Given the description of an element on the screen output the (x, y) to click on. 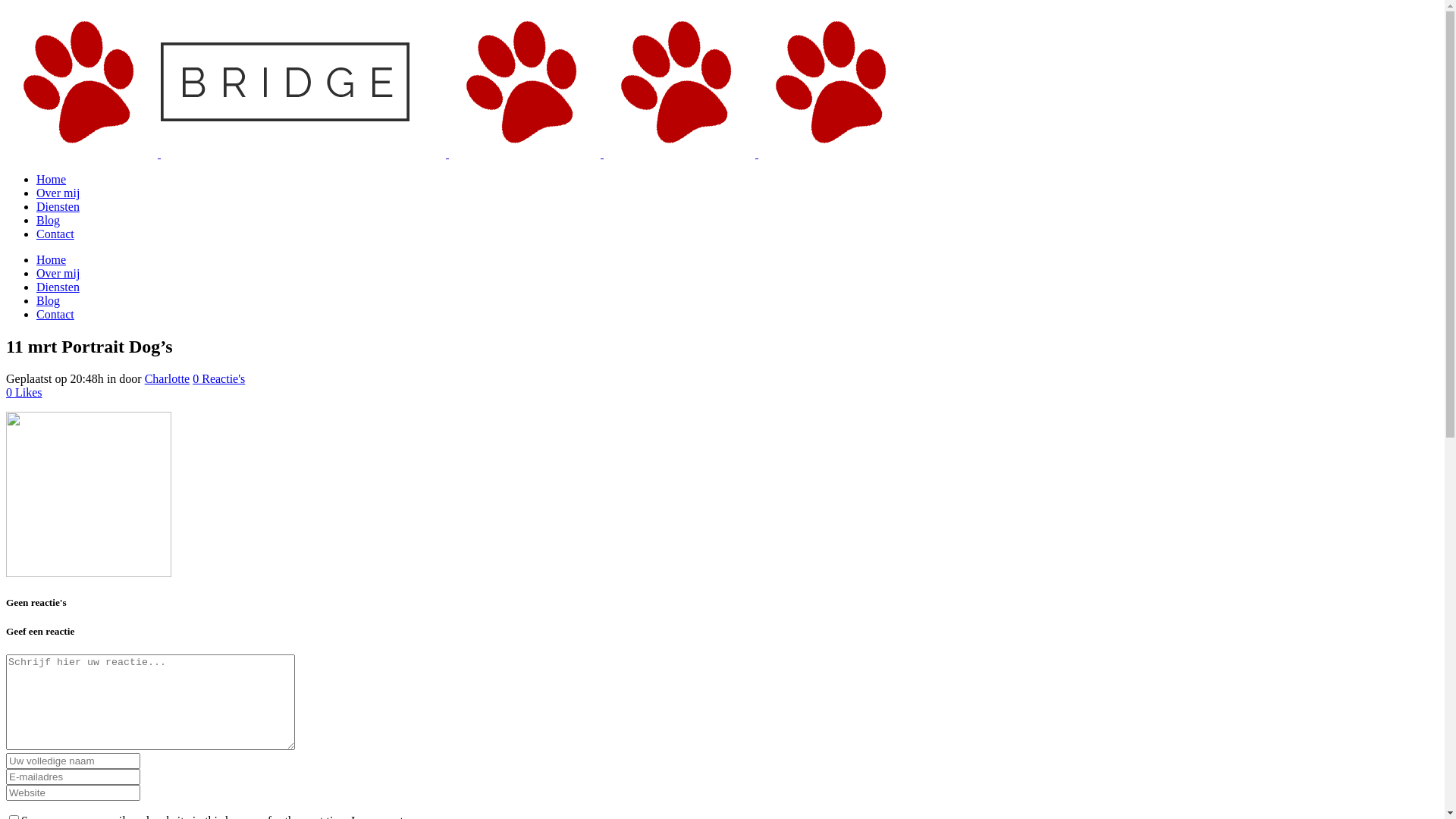
Over mij Element type: text (57, 192)
Blog Element type: text (47, 300)
Diensten Element type: text (57, 206)
Contact Element type: text (55, 313)
Over mij Element type: text (57, 272)
0 Reactie's Element type: text (218, 378)
Contact Element type: text (55, 233)
Diensten Element type: text (57, 286)
Home Element type: text (50, 178)
0 Likes Element type: text (24, 391)
Blog Element type: text (47, 219)
Charlotte Element type: text (167, 378)
Home Element type: text (50, 259)
